Given the description of an element on the screen output the (x, y) to click on. 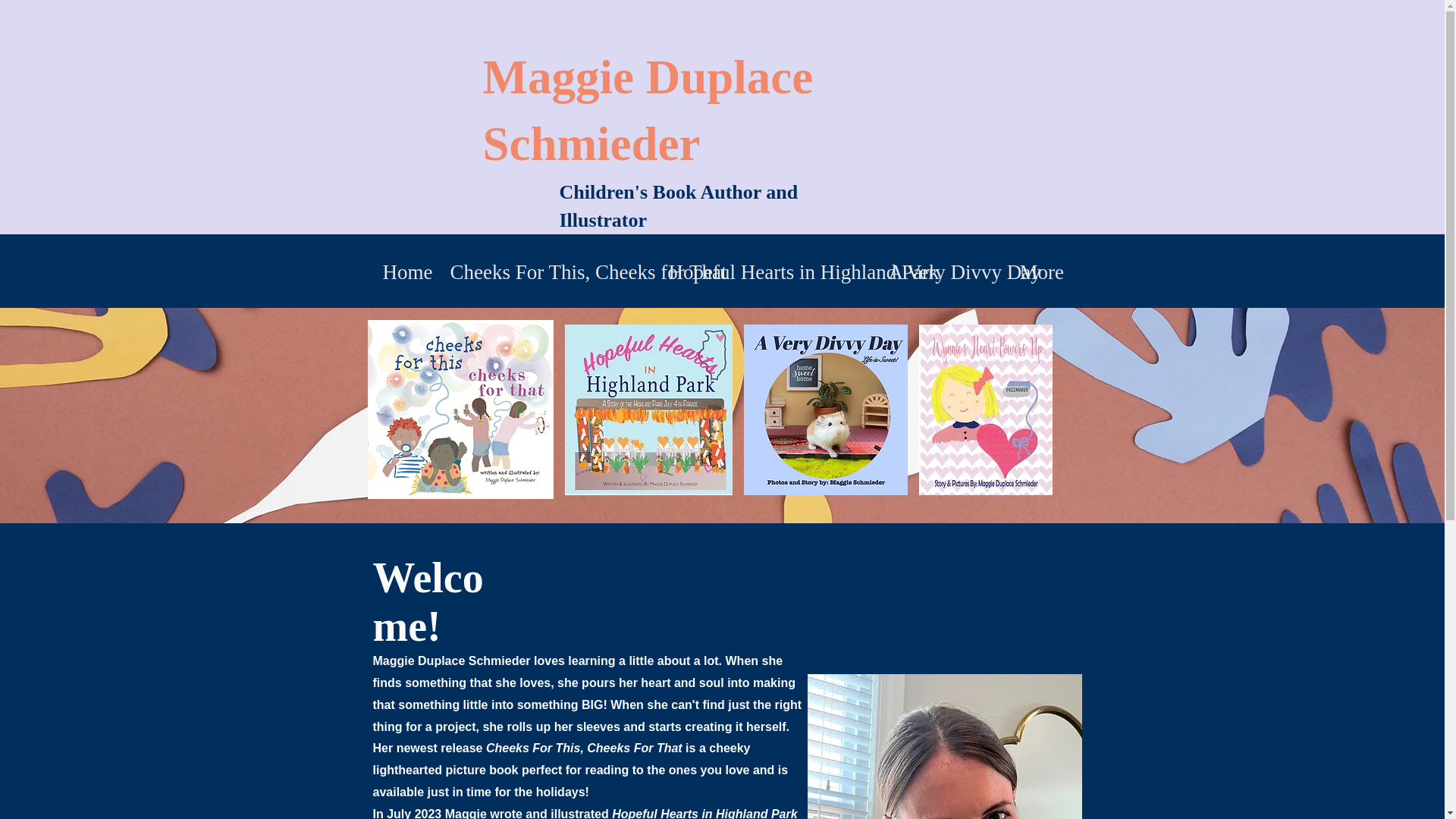
A Very Divvy Day (941, 271)
Hopeful Hearts in Highland Park (766, 271)
Cheeks For This, Cheeks for That (547, 271)
Home (405, 271)
